Given the description of an element on the screen output the (x, y) to click on. 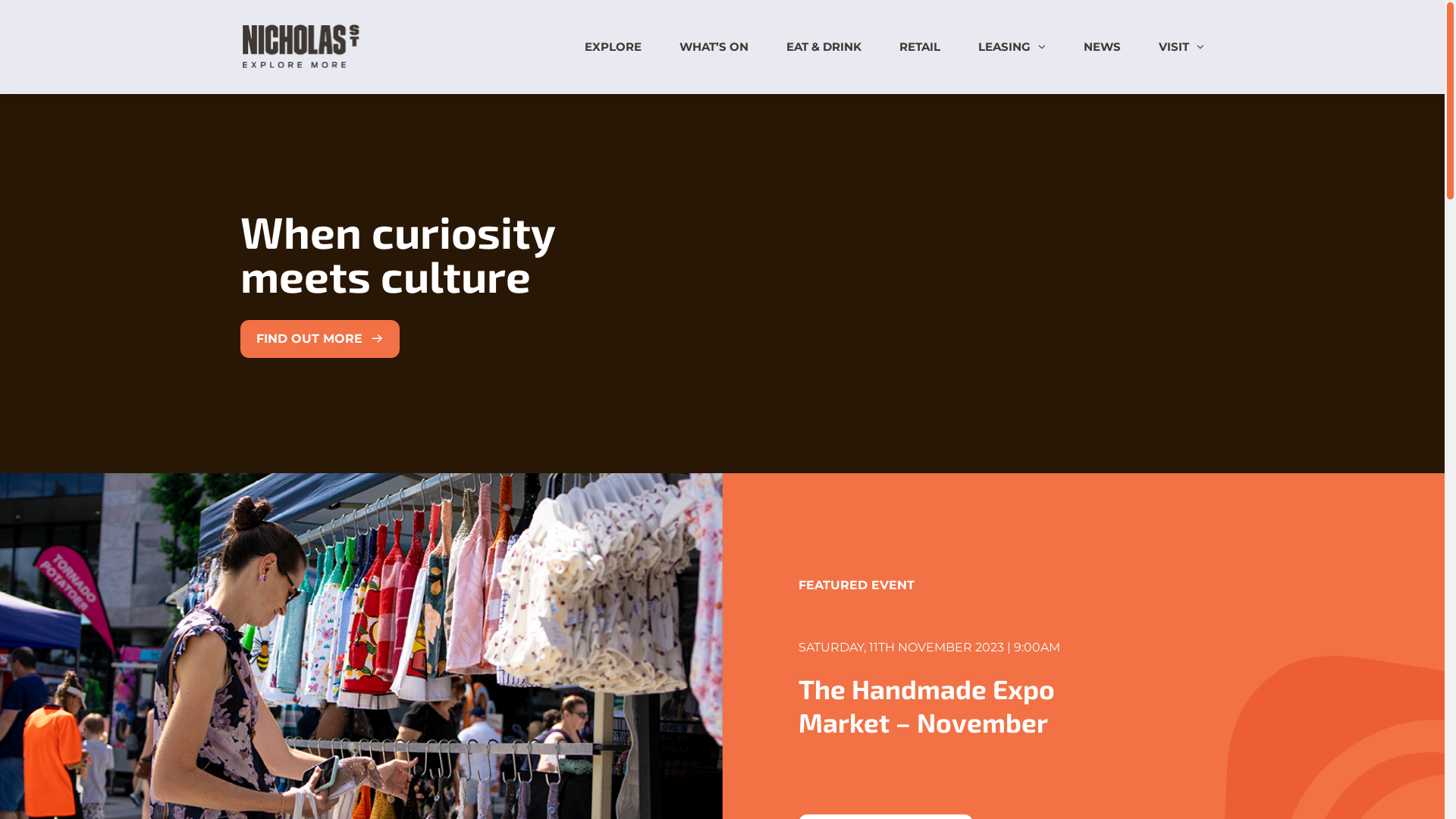
EAT & DRINK Element type: text (823, 46)
FIND OUT MORE Element type: text (318, 338)
EXPLORE Element type: text (612, 46)
NEWS Element type: text (1101, 46)
RETAIL Element type: text (919, 46)
LEASING Element type: text (1004, 46)
Nicholas Street Precinct Element type: hover (301, 65)
VISIT Element type: text (1173, 46)
